Given the description of an element on the screen output the (x, y) to click on. 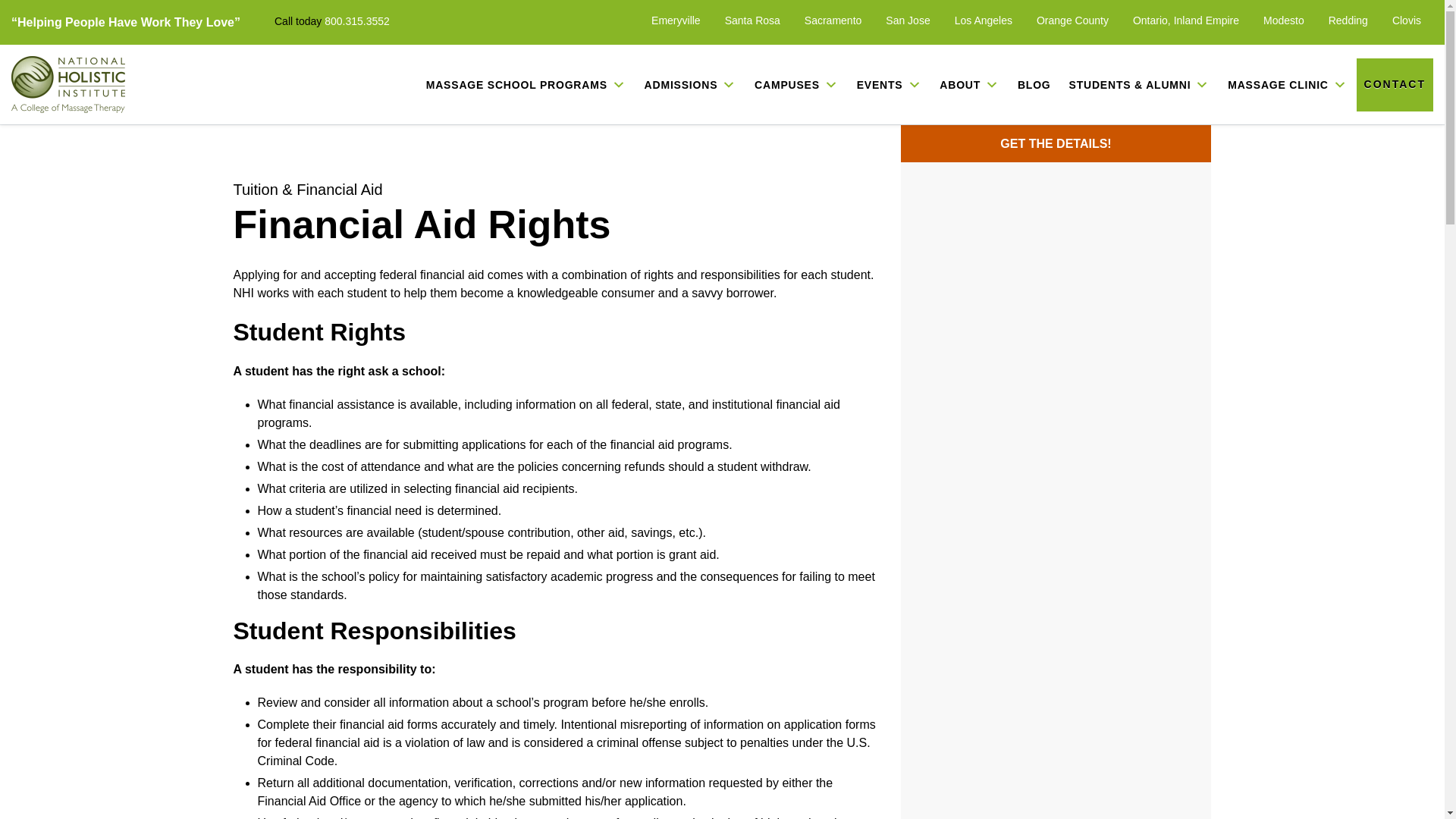
Santa Rosa (752, 20)
Los Angeles (983, 20)
Ontario, Inland Empire (1185, 20)
Modesto (1283, 20)
San Jose (907, 20)
Sacramento (833, 20)
800.315.3552 (357, 21)
Call Today (357, 21)
ADMISSIONS (689, 84)
MASSAGE SCHOOL PROGRAMS (525, 84)
Clovis (1406, 20)
Redding (1347, 20)
Emeryville (675, 20)
Orange County (1072, 20)
